Given the description of an element on the screen output the (x, y) to click on. 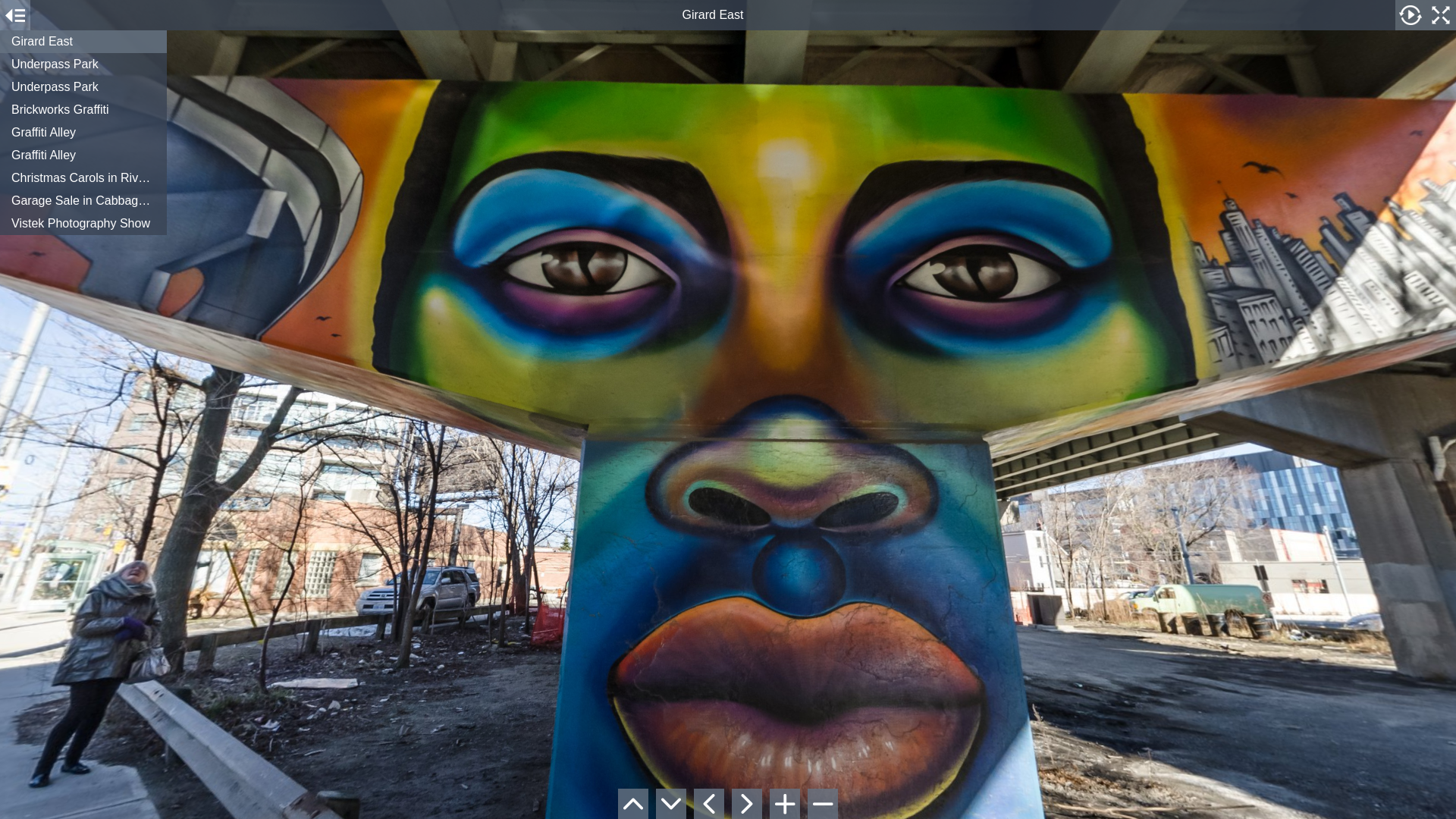
Christmas Carols in Riverdale Element type: text (83, 177)
Graffiti Alley Element type: text (83, 155)
Girard East Element type: text (83, 41)
Garage Sale in Cabbagetown Element type: text (83, 200)
Underpass Park Element type: text (83, 64)
Graffiti Alley Element type: text (83, 132)
Brickworks Graffiti Element type: text (83, 109)
Vistek Photography Show Element type: text (83, 223)
Underpass Park Element type: text (83, 86)
